Given the description of an element on the screen output the (x, y) to click on. 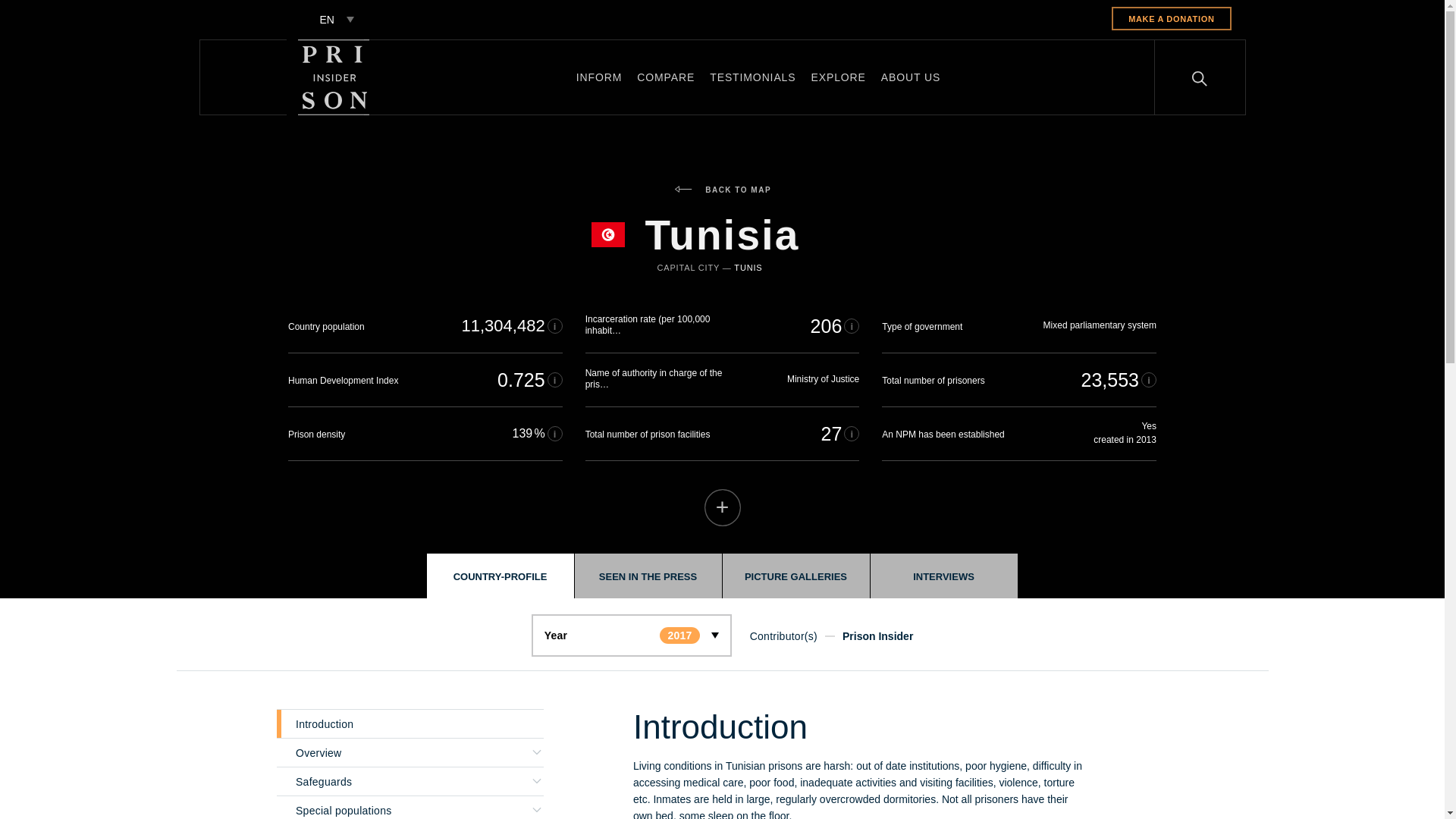
MAKE A DONATION (1171, 18)
EXPLORE (838, 77)
ABOUT US (910, 77)
TESTIMONIALS (752, 77)
COMPARE (664, 77)
